Given the description of an element on the screen output the (x, y) to click on. 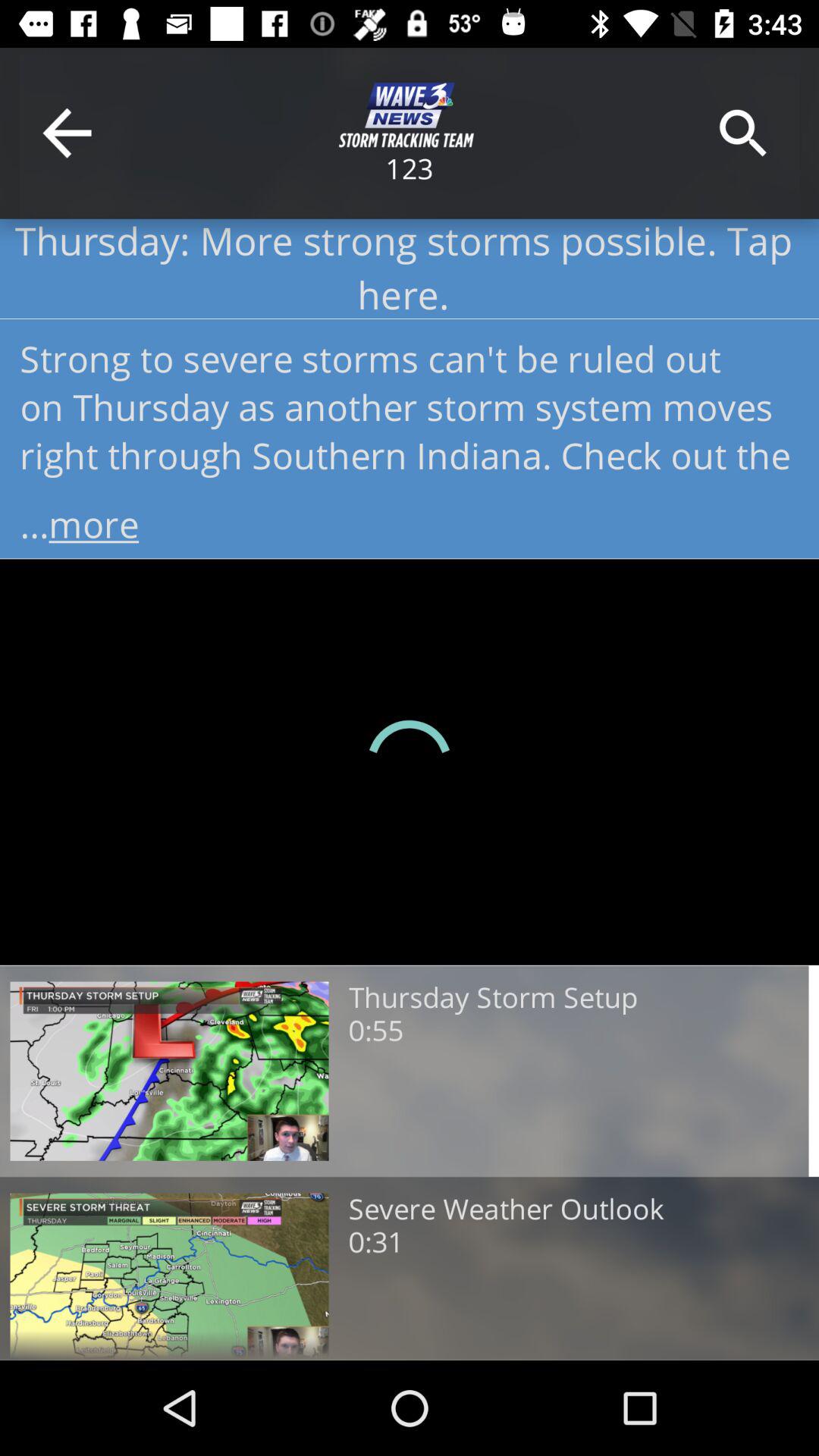
turn on ...more item (409, 518)
